Given the description of an element on the screen output the (x, y) to click on. 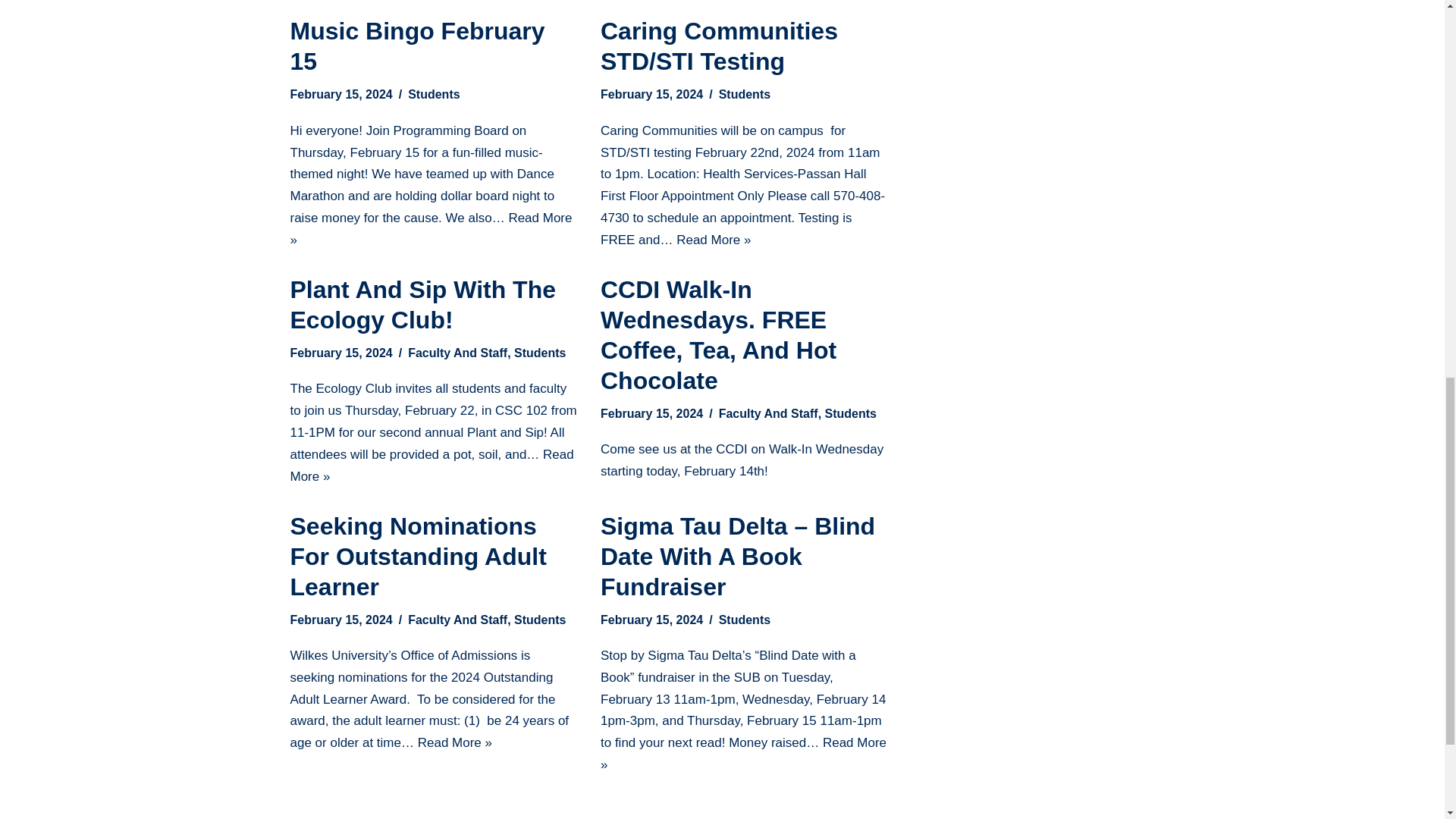
Students (744, 93)
Faculty And Staff (456, 352)
Music Bingo February 15 (416, 46)
Plant And Sip With The Ecology Club! (422, 304)
Students (433, 93)
